Given the description of an element on the screen output the (x, y) to click on. 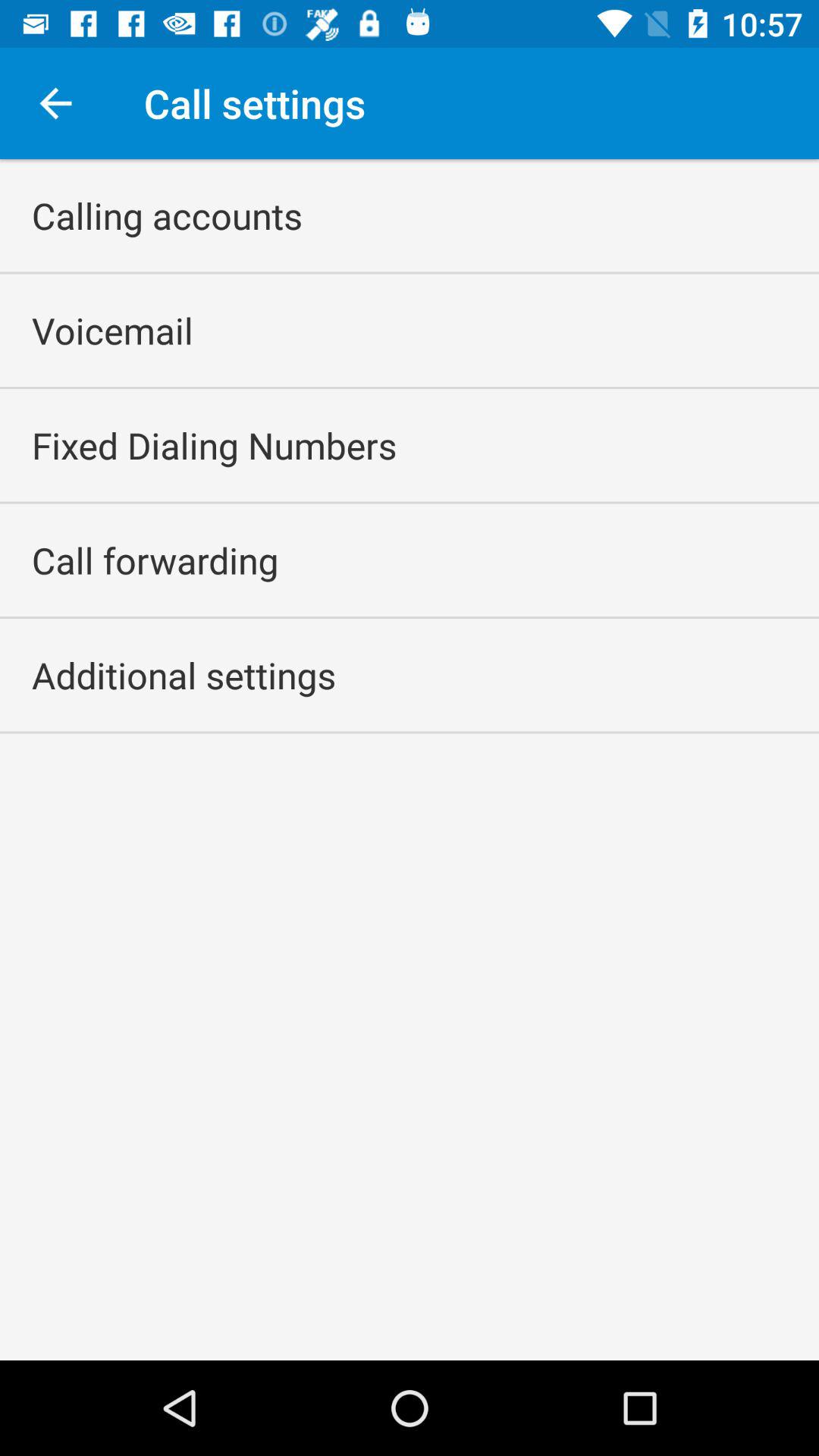
open item above the voicemail icon (166, 215)
